Given the description of an element on the screen output the (x, y) to click on. 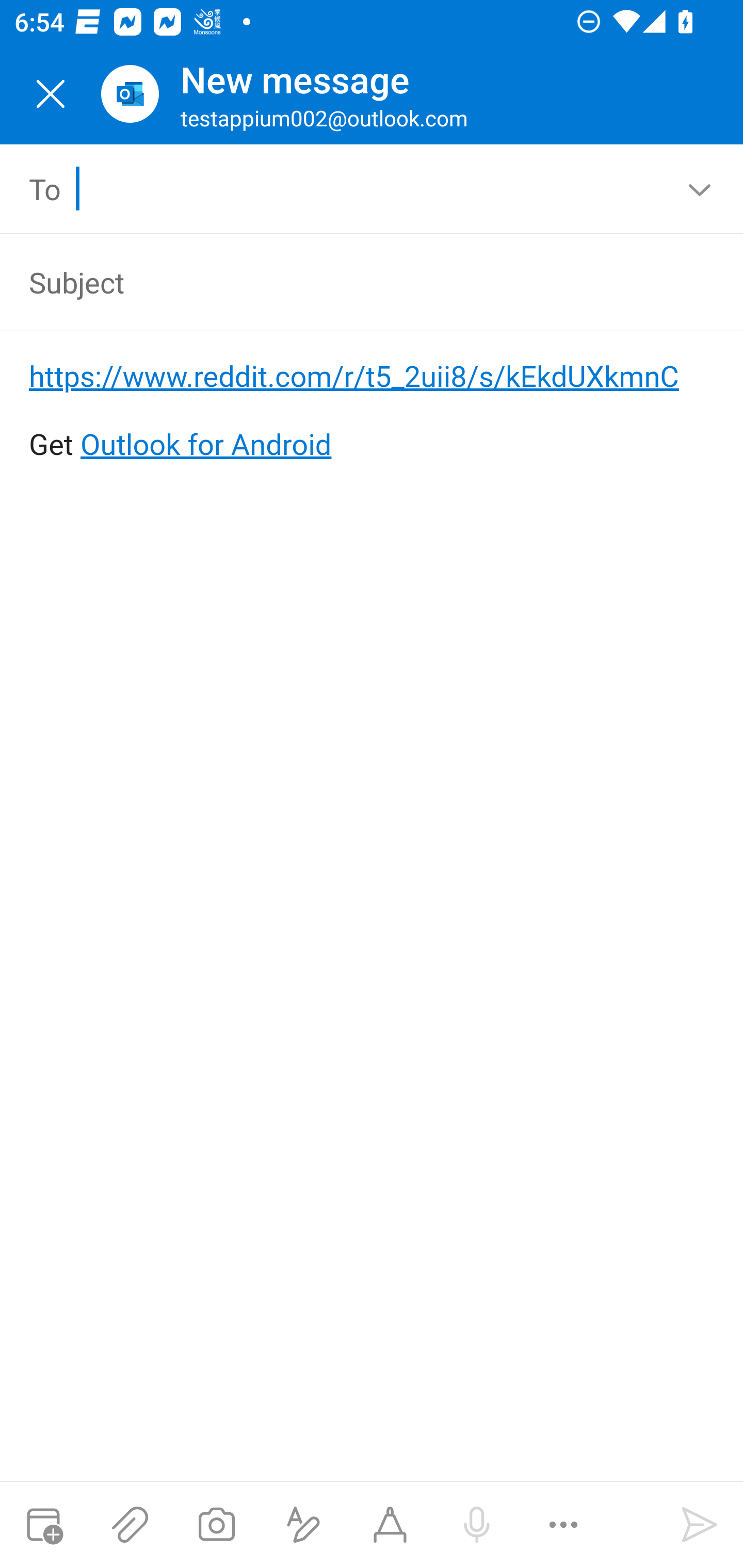
Close (50, 93)
Subject (342, 281)
Attach meeting (43, 1524)
Attach files (129, 1524)
Take a photo (216, 1524)
Show formatting options (303, 1524)
Start Ink compose (389, 1524)
More options (563, 1524)
Send (699, 1524)
